Given the description of an element on the screen output the (x, y) to click on. 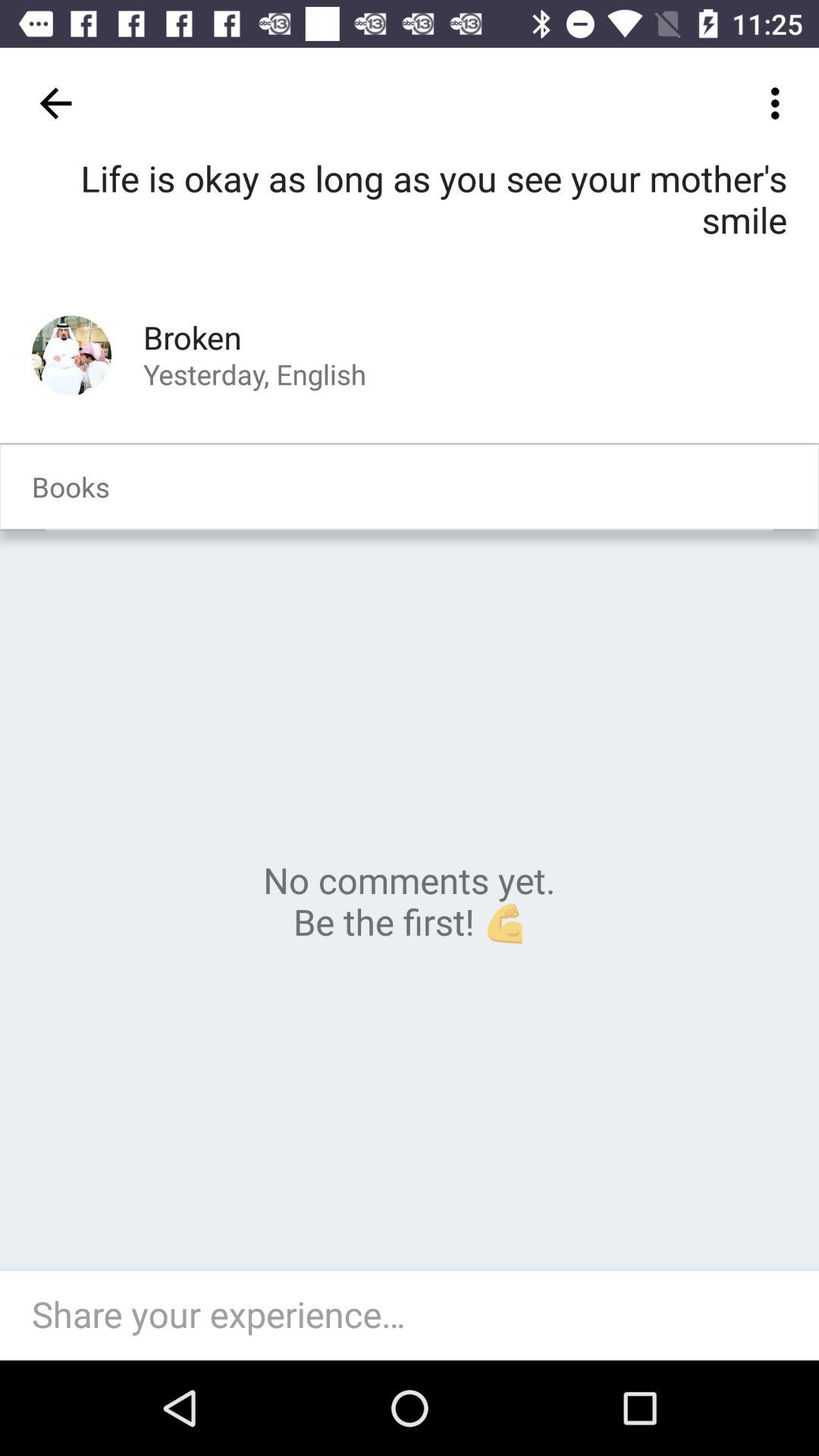
open icon above books item (71, 355)
